Given the description of an element on the screen output the (x, y) to click on. 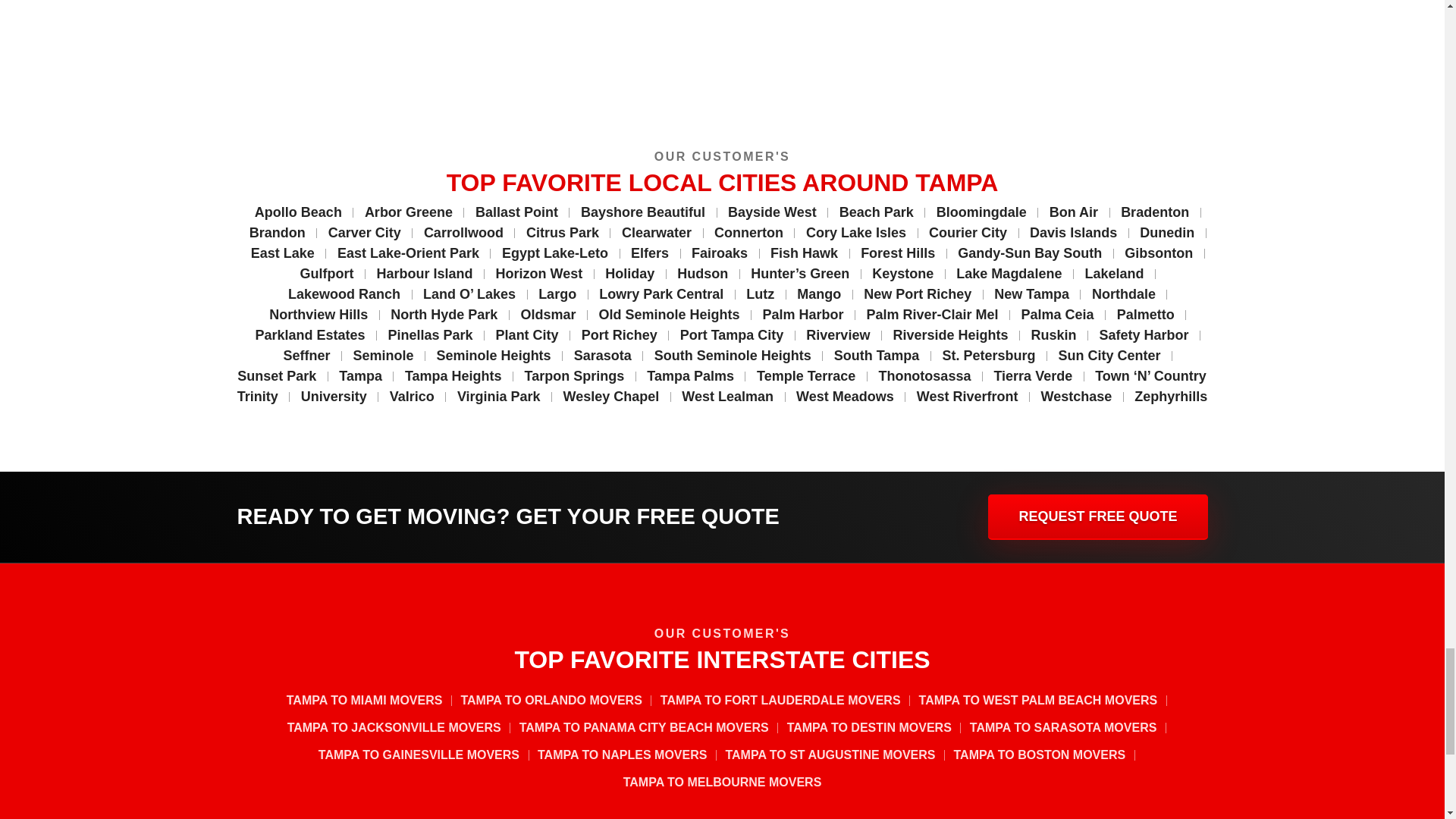
Lakeland, FL (557, 18)
